Given the description of an element on the screen output the (x, y) to click on. 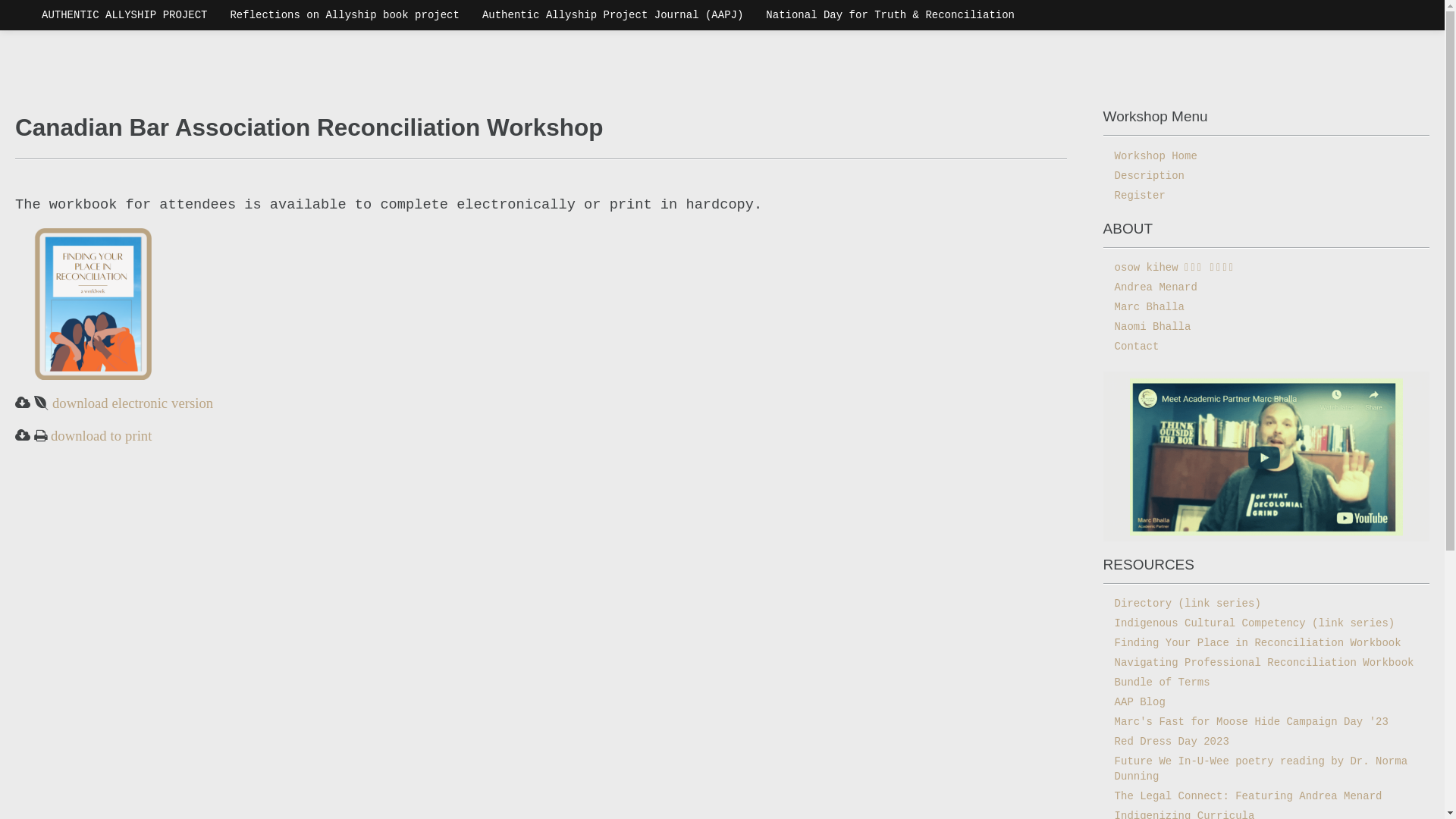
The Legal Connect: Featuring Andrea Menard Element type: text (1266, 796)
Future We In-U-Wee poetry reading by Dr. Norma Dunning Element type: text (1266, 768)
Reflections on Allyship book project Element type: text (344, 15)
Andrea Menard Element type: text (1266, 287)
Naomi Bhalla Element type: text (1266, 326)
Directory (link series) Element type: text (1266, 603)
download electronic version Element type: text (130, 402)
Navigating Professional Reconciliation Workbook Element type: text (1266, 662)
Marc Bhalla Element type: text (1266, 306)
Finding Your Place in Reconciliation Workbook Element type: text (1266, 642)
Workshop Home Element type: text (1266, 156)
Indigenous Cultural Competency (link series) Element type: text (1266, 623)
Description Element type: text (1266, 175)
Contact Element type: text (1266, 346)
National Day for Truth & Reconciliation Element type: text (890, 15)
AUTHENTIC ALLYSHIP PROJECT Element type: text (124, 15)
Authentic Allyship Project Journal (AAPJ) Element type: text (612, 15)
Register Element type: text (1266, 195)
Marc's Fast for Moose Hide Campaign Day '23 Element type: text (1266, 721)
Red Dress Day 2023 Element type: text (1266, 741)
download to print Element type: text (99, 435)
AAP Blog Element type: text (1266, 702)
Bundle of Terms Element type: text (1266, 682)
